Given the description of an element on the screen output the (x, y) to click on. 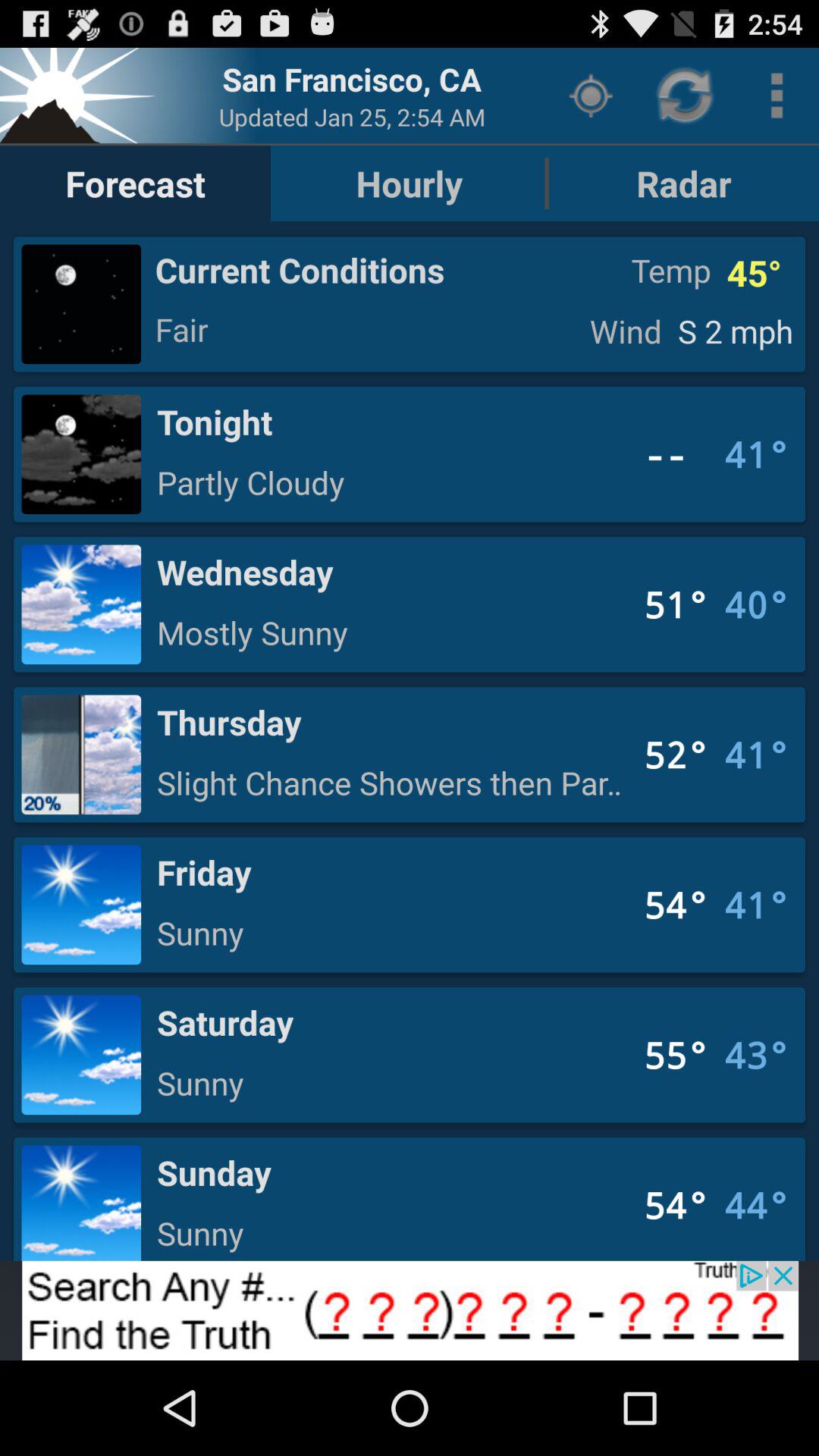
select the image which is left side of the current conditions (81, 304)
